Given the description of an element on the screen output the (x, y) to click on. 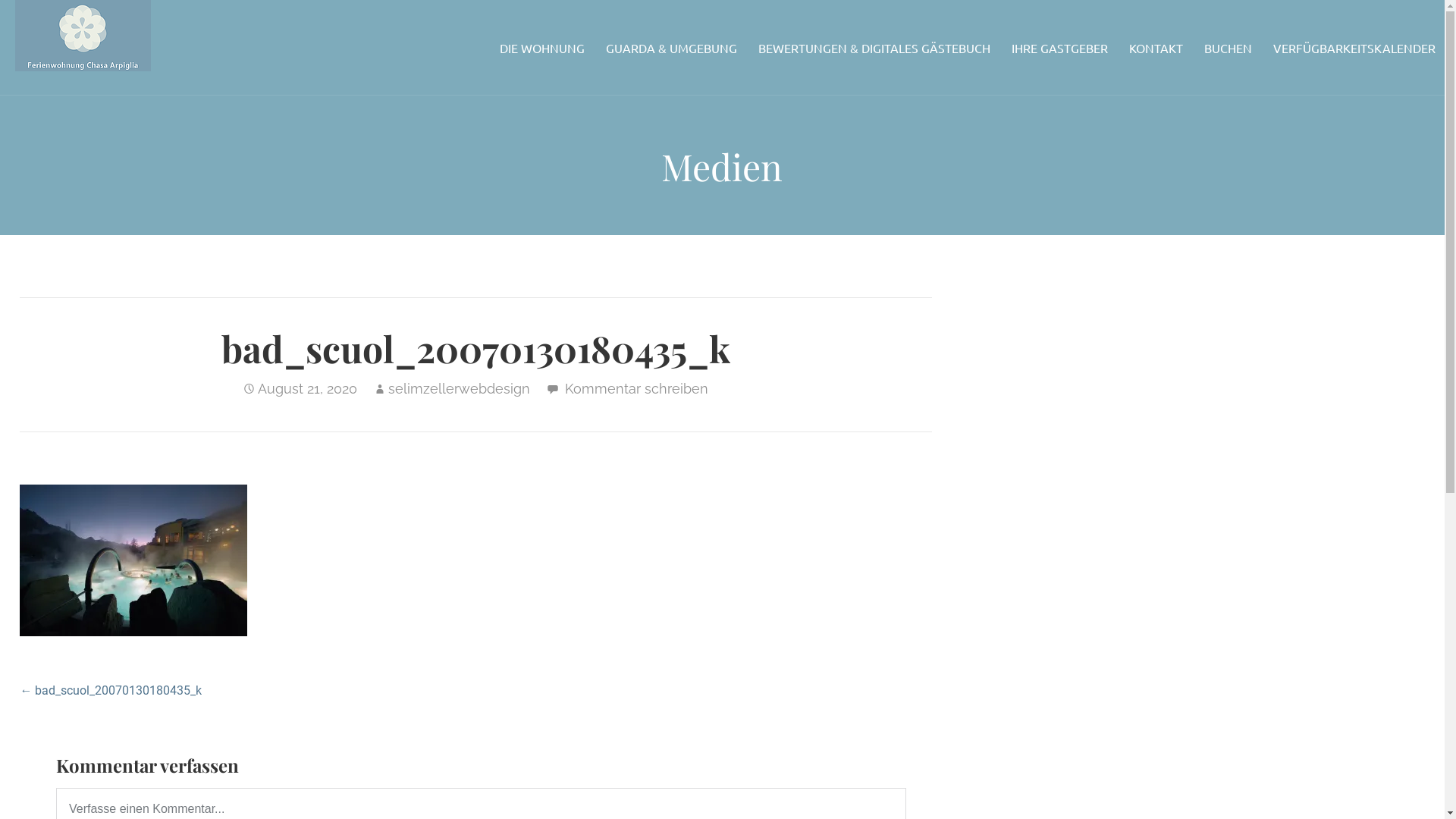
IHRE GASTGEBER Element type: text (1059, 47)
KONTAKT Element type: text (1156, 47)
selimzellerwebdesign Element type: text (459, 388)
BUCHEN Element type: text (1228, 47)
DIE WOHNUNG Element type: text (541, 47)
GUARDA & UMGEBUNG Element type: text (671, 47)
Kommentar schreiben Element type: text (636, 388)
